Given the description of an element on the screen output the (x, y) to click on. 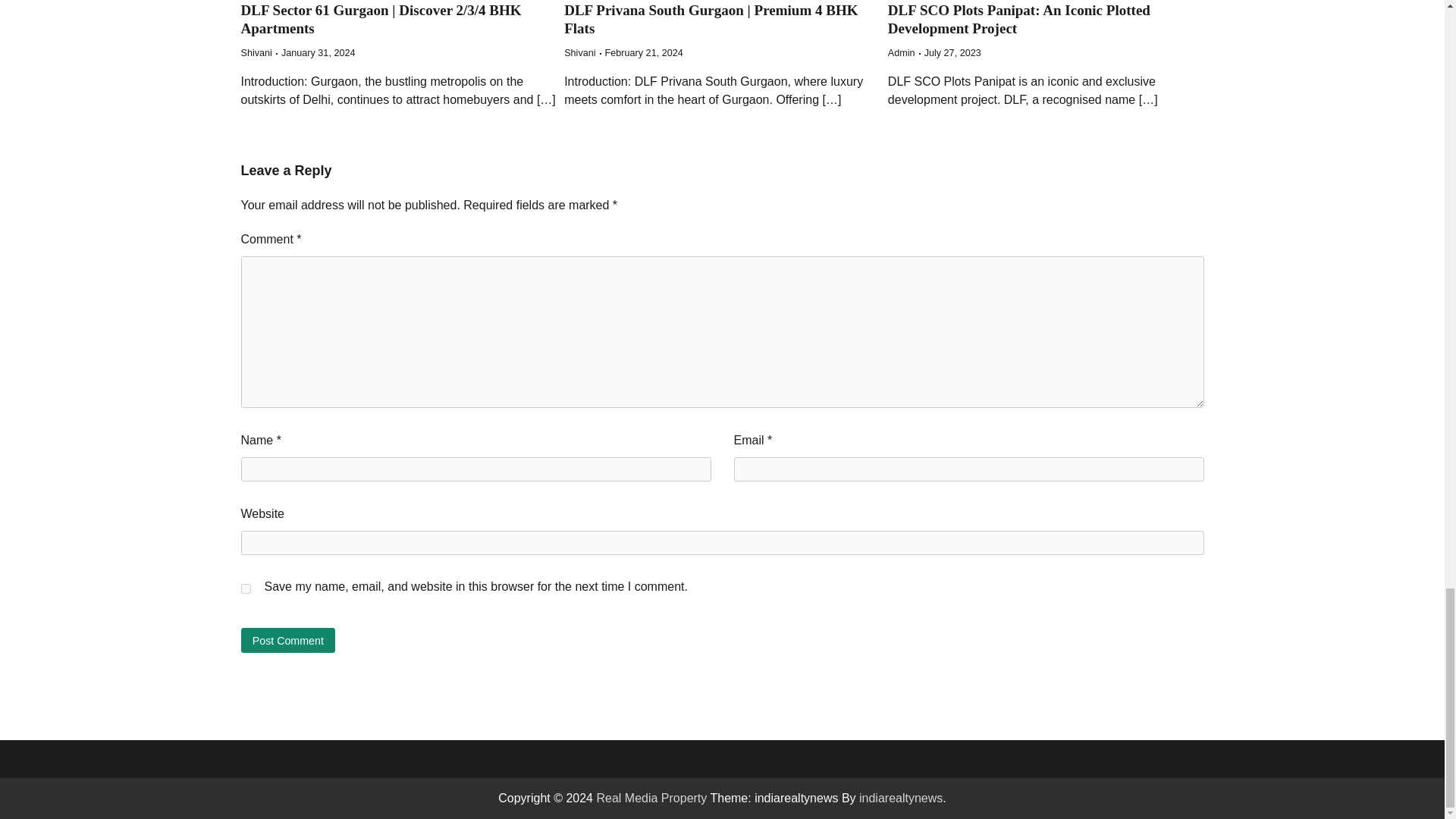
Post Comment (288, 640)
Shivani (256, 52)
Real Media Property (650, 797)
yes (245, 588)
indiarealtynews (900, 797)
Admin (901, 52)
Post Comment (288, 640)
Shivani (579, 52)
